Given the description of an element on the screen output the (x, y) to click on. 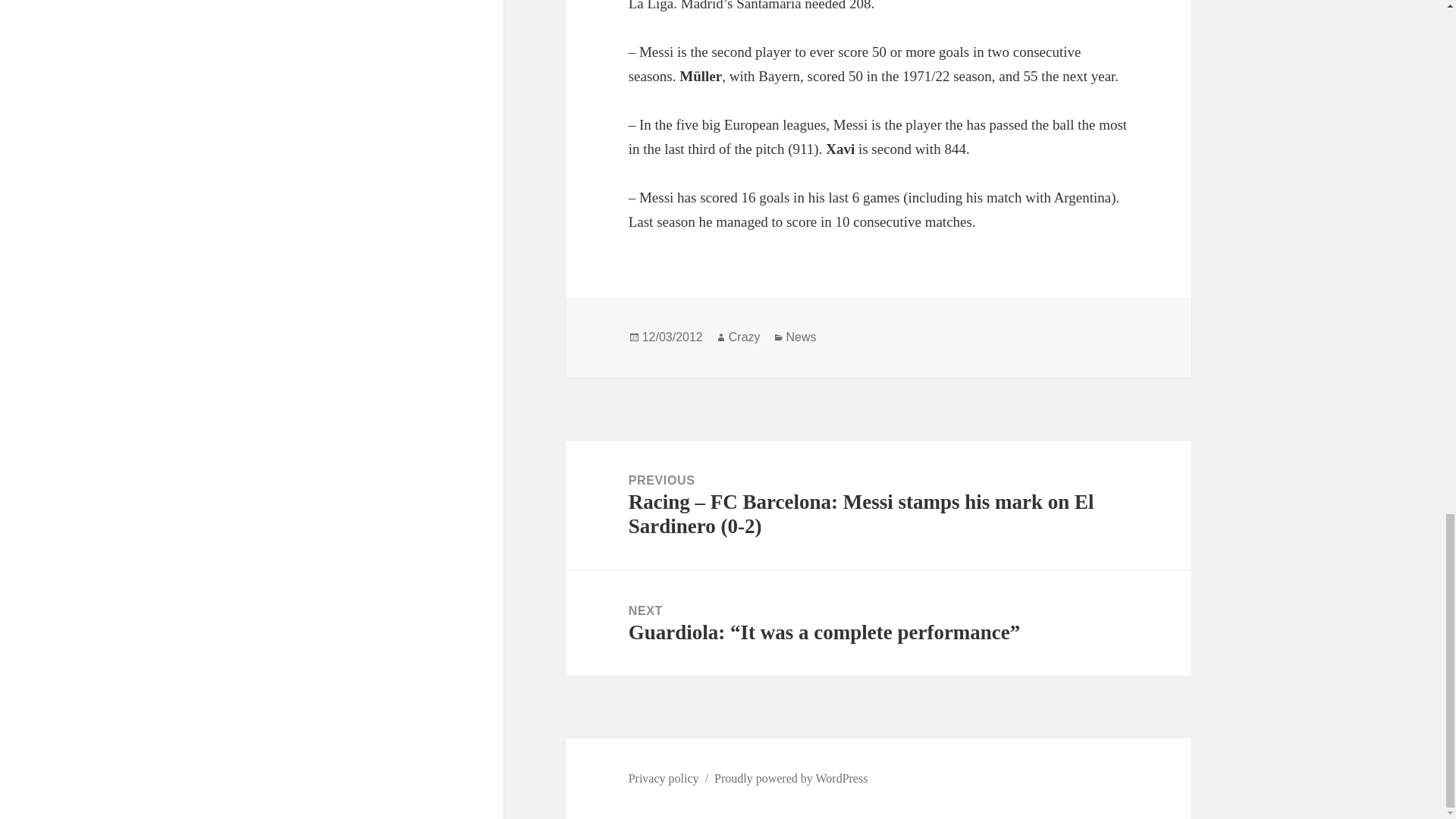
Proudly powered by WordPress (790, 778)
Crazy (744, 336)
News (801, 336)
Privacy policy (663, 778)
